Given the description of an element on the screen output the (x, y) to click on. 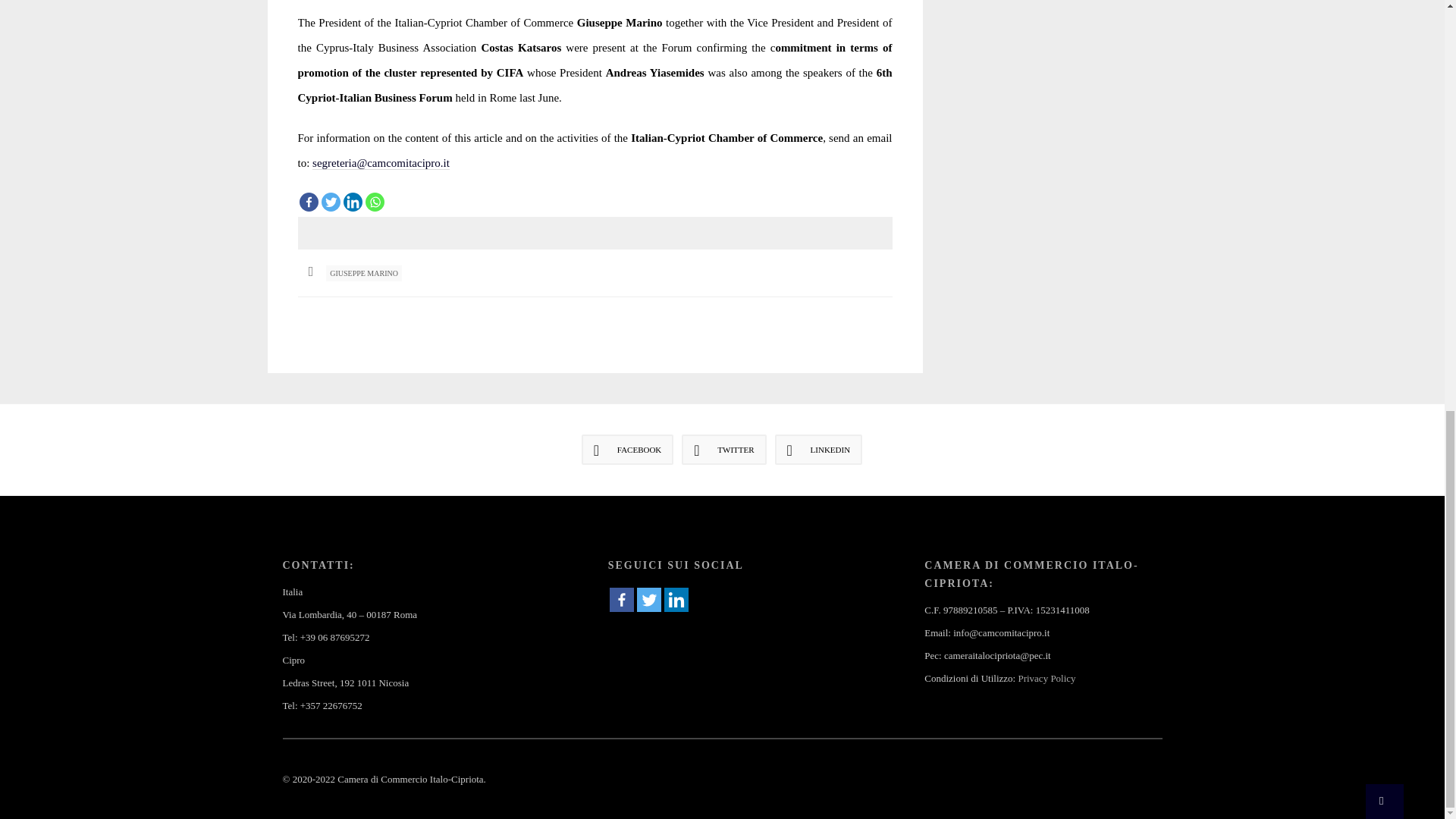
TWITTER (723, 449)
Facebook (621, 599)
GIUSEPPE MARINO (363, 273)
Twitter (330, 201)
Linkedin (351, 201)
linkedinCompany (675, 599)
Whatsapp (374, 201)
Twitter (649, 599)
LinkedIn (818, 449)
FACEBOOK (626, 449)
